Given the description of an element on the screen output the (x, y) to click on. 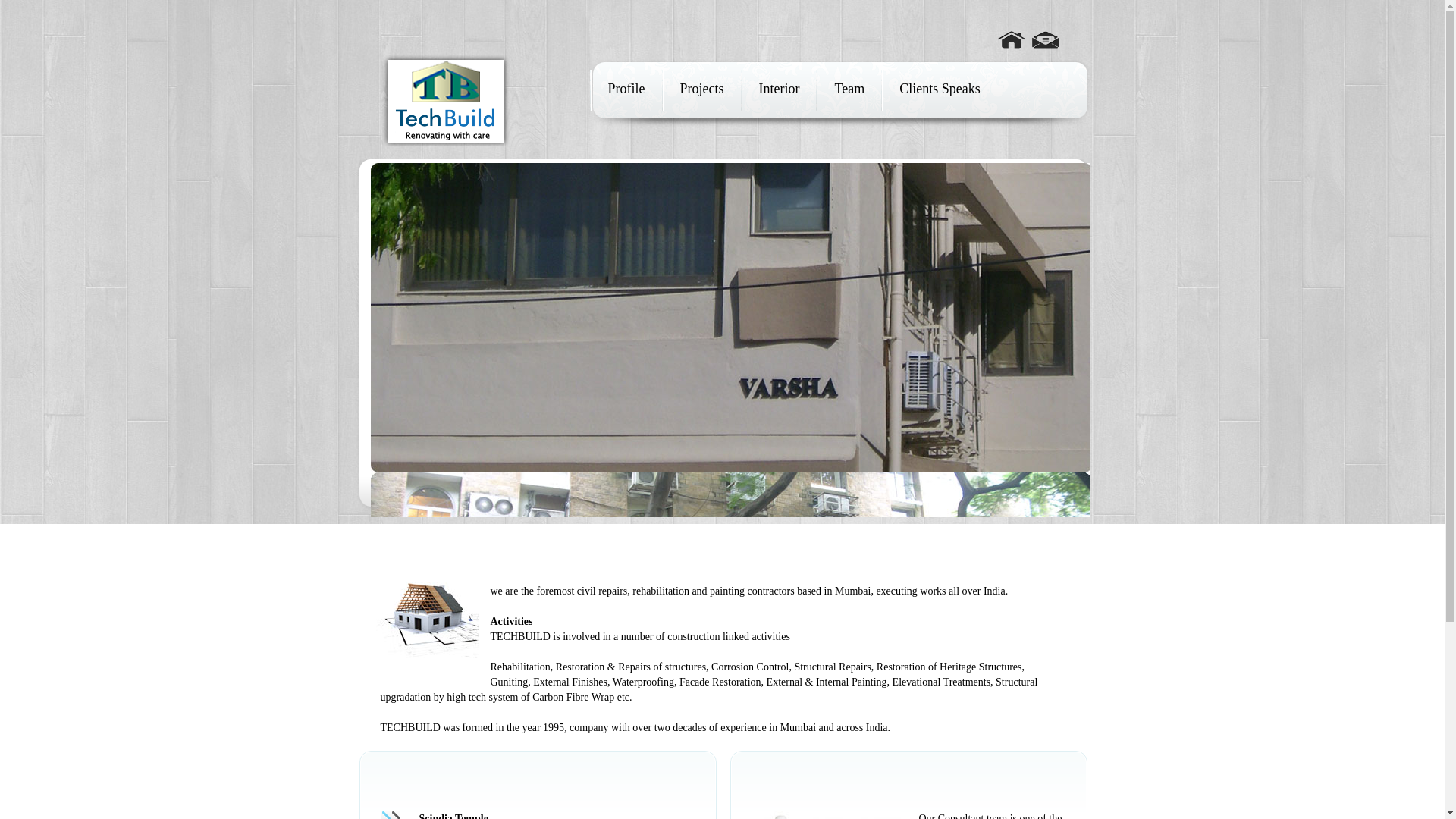
Interior (778, 88)
Home (1010, 34)
Contacts (1044, 34)
Profile (626, 88)
Team (848, 88)
Scindia Temple (453, 816)
Clients Speaks (939, 88)
Projects (700, 88)
